Given the description of an element on the screen output the (x, y) to click on. 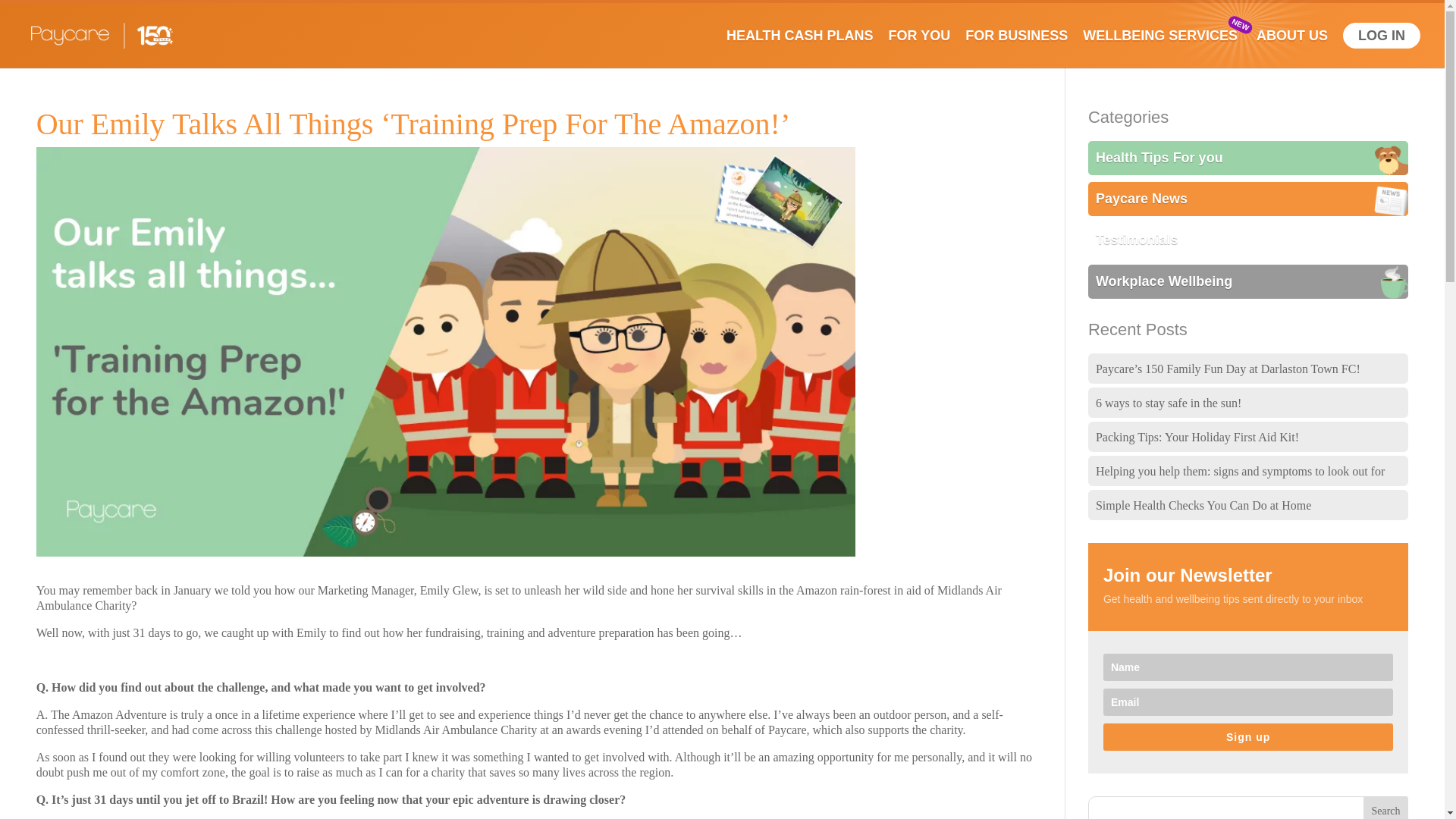
FOR YOU (927, 48)
ABOUT US (1299, 48)
WELLBEING SERVICES (1167, 48)
FOR BUSINESS (1024, 48)
HEALTH CASH PLANS (807, 48)
Search (1385, 807)
